Given the description of an element on the screen output the (x, y) to click on. 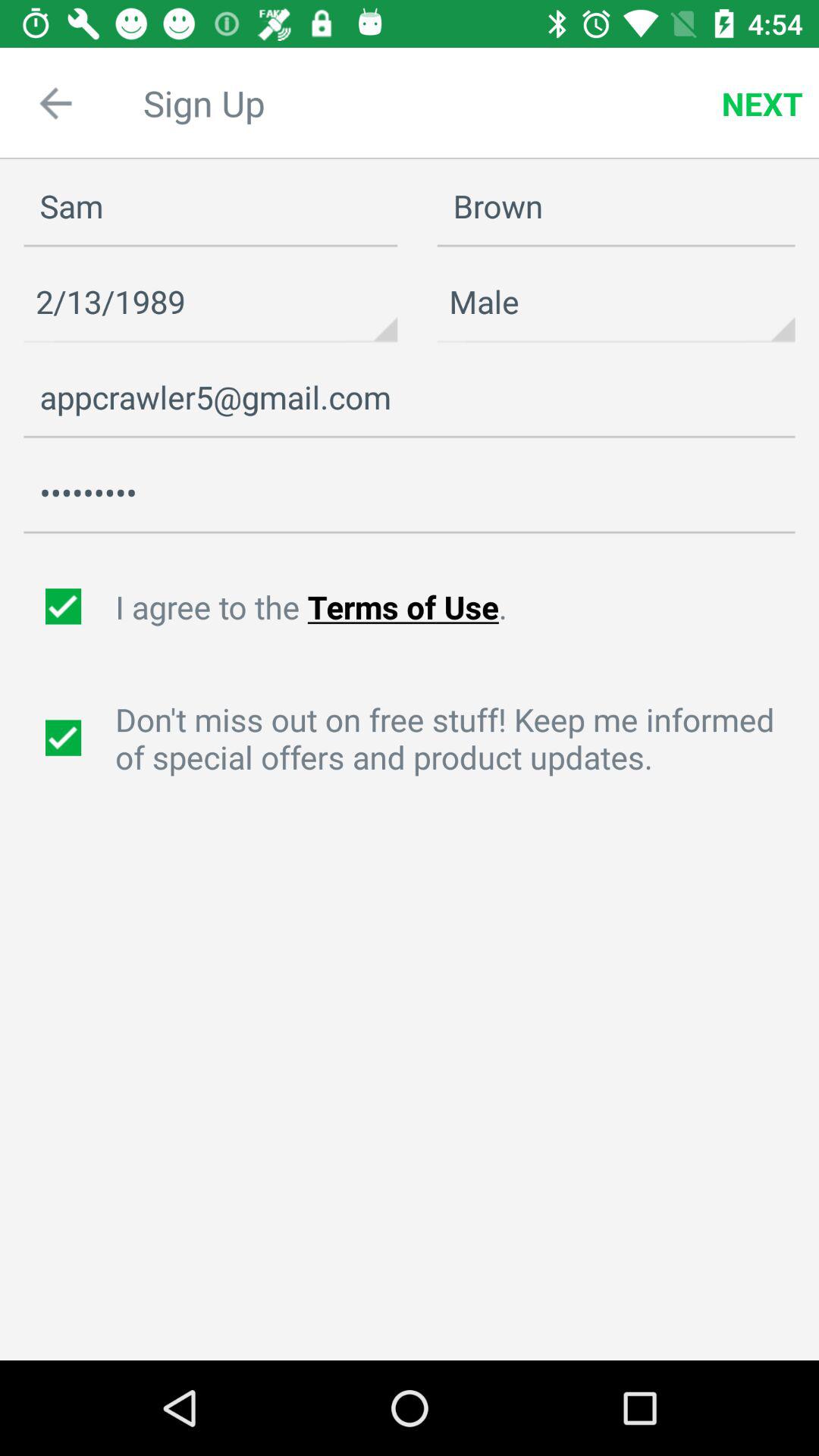
agree to terms of service (65, 606)
